Given the description of an element on the screen output the (x, y) to click on. 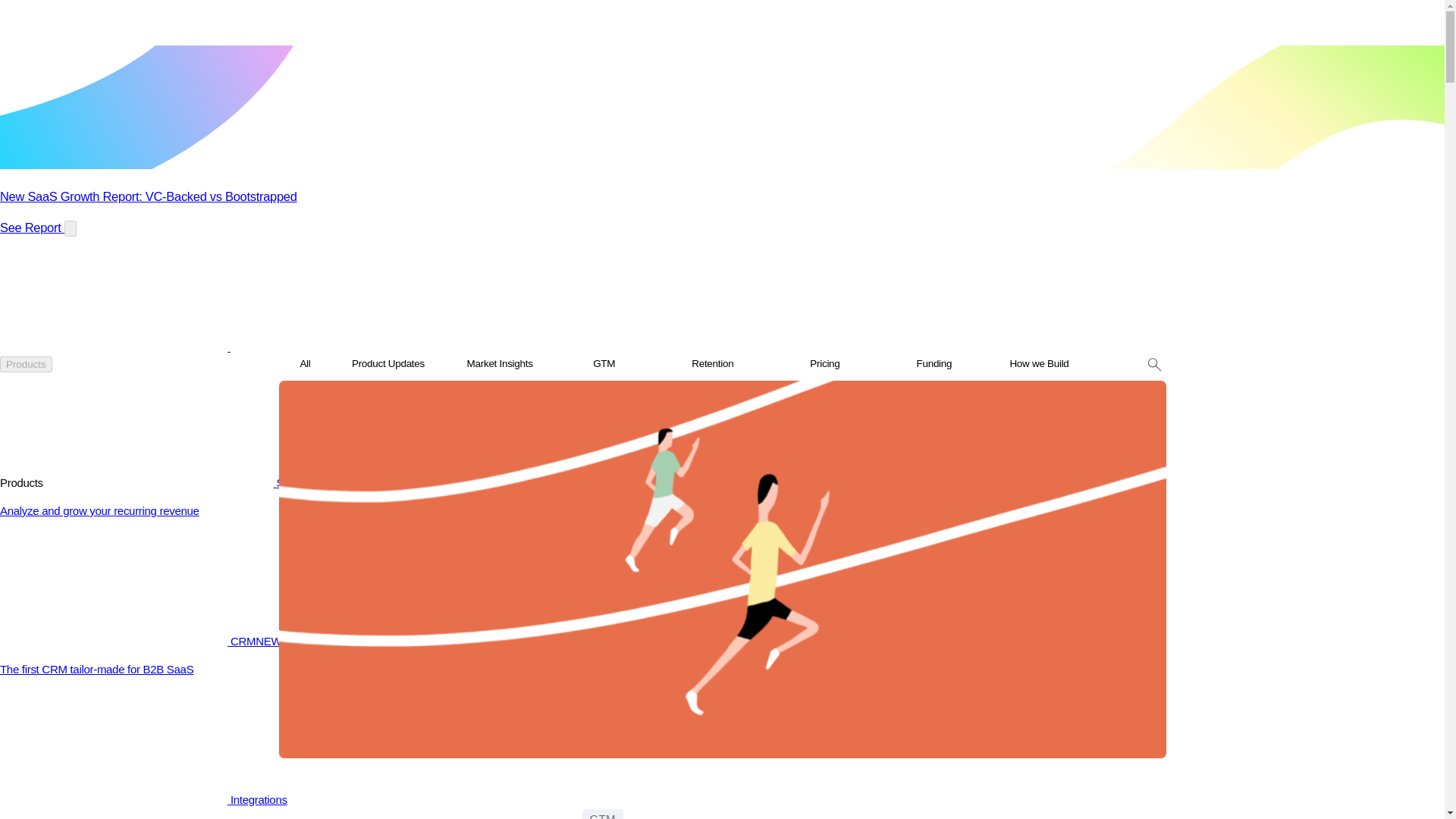
Market Insights (499, 365)
Retention (712, 365)
All (305, 365)
GTM (603, 365)
Search (304, 392)
Product Updates (387, 365)
Funding (933, 365)
How we Build (1039, 365)
Pricing (824, 365)
GTM (602, 814)
